Given the description of an element on the screen output the (x, y) to click on. 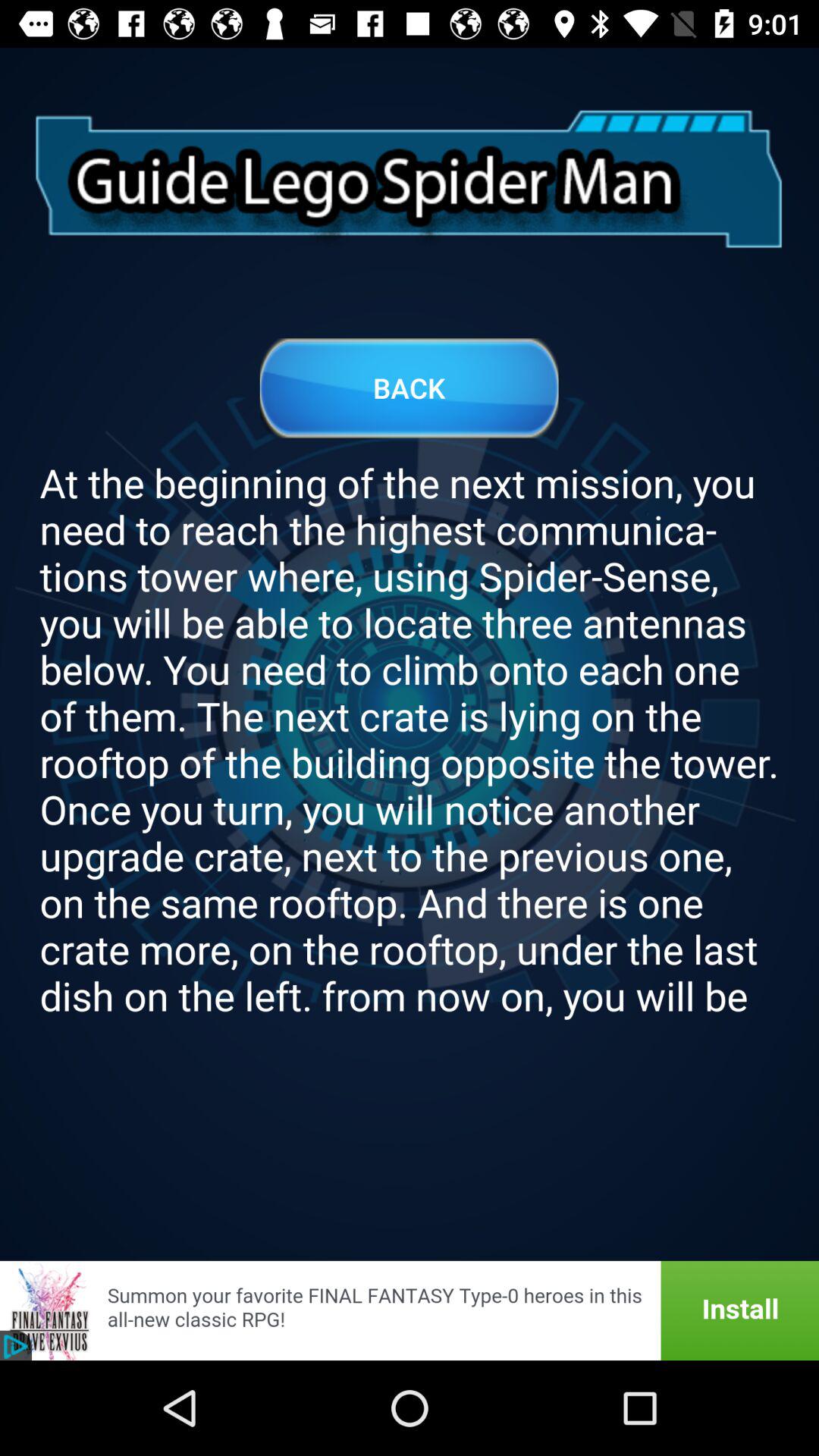
install final fantasy (409, 1310)
